Given the description of an element on the screen output the (x, y) to click on. 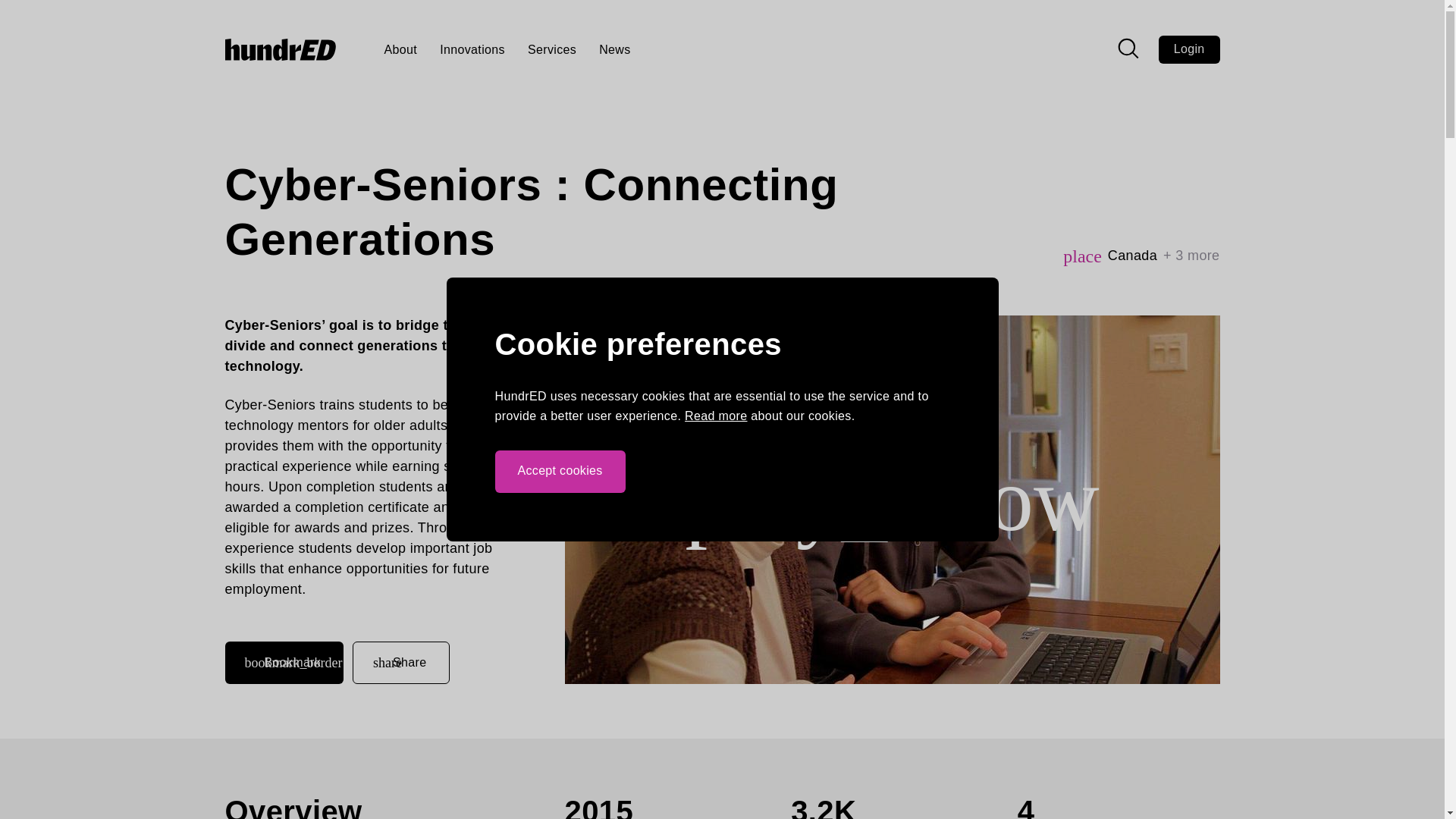
Login (1189, 49)
Read more (715, 415)
